Given the description of an element on the screen output the (x, y) to click on. 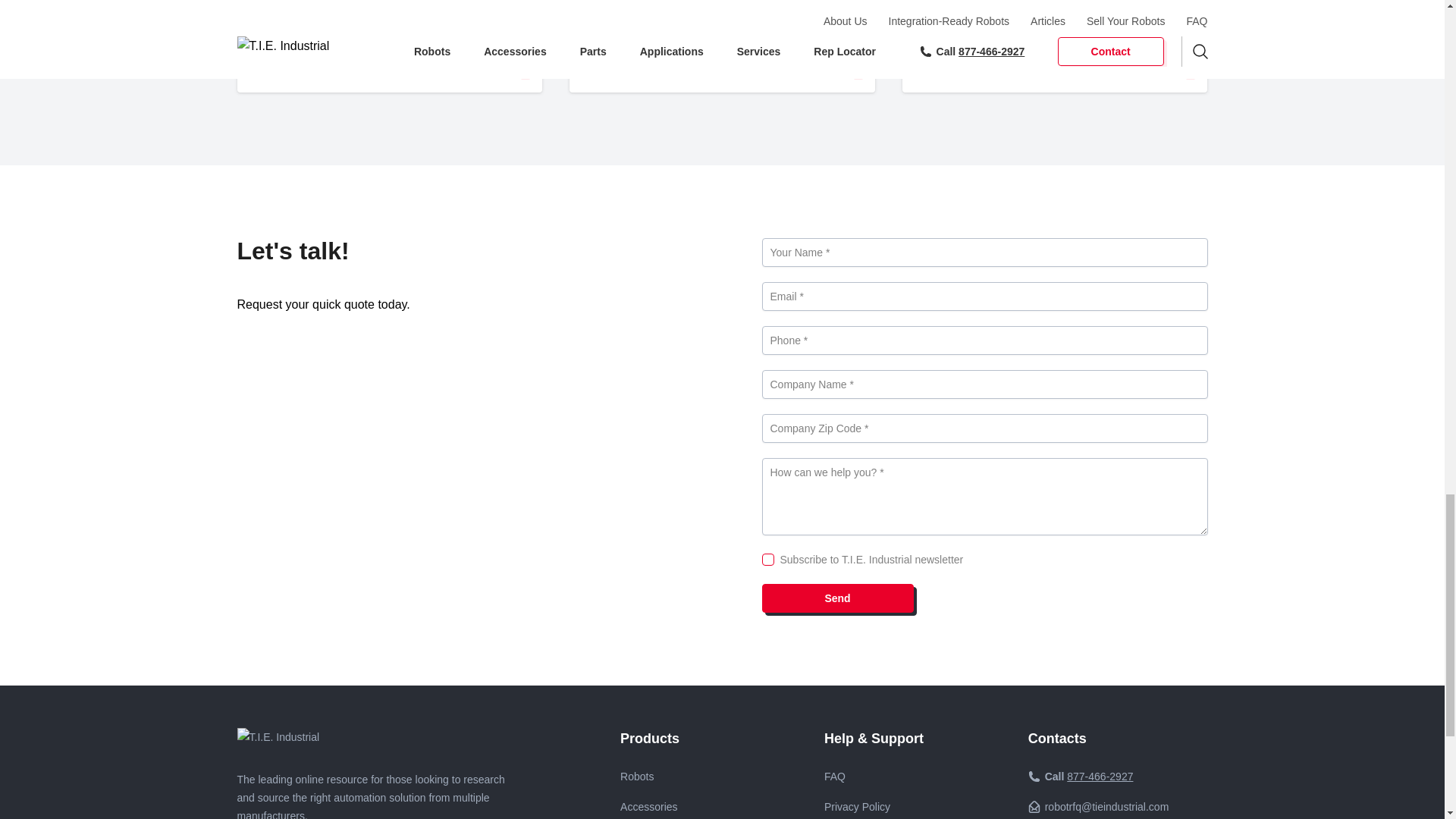
Yes (767, 559)
